Given the description of an element on the screen output the (x, y) to click on. 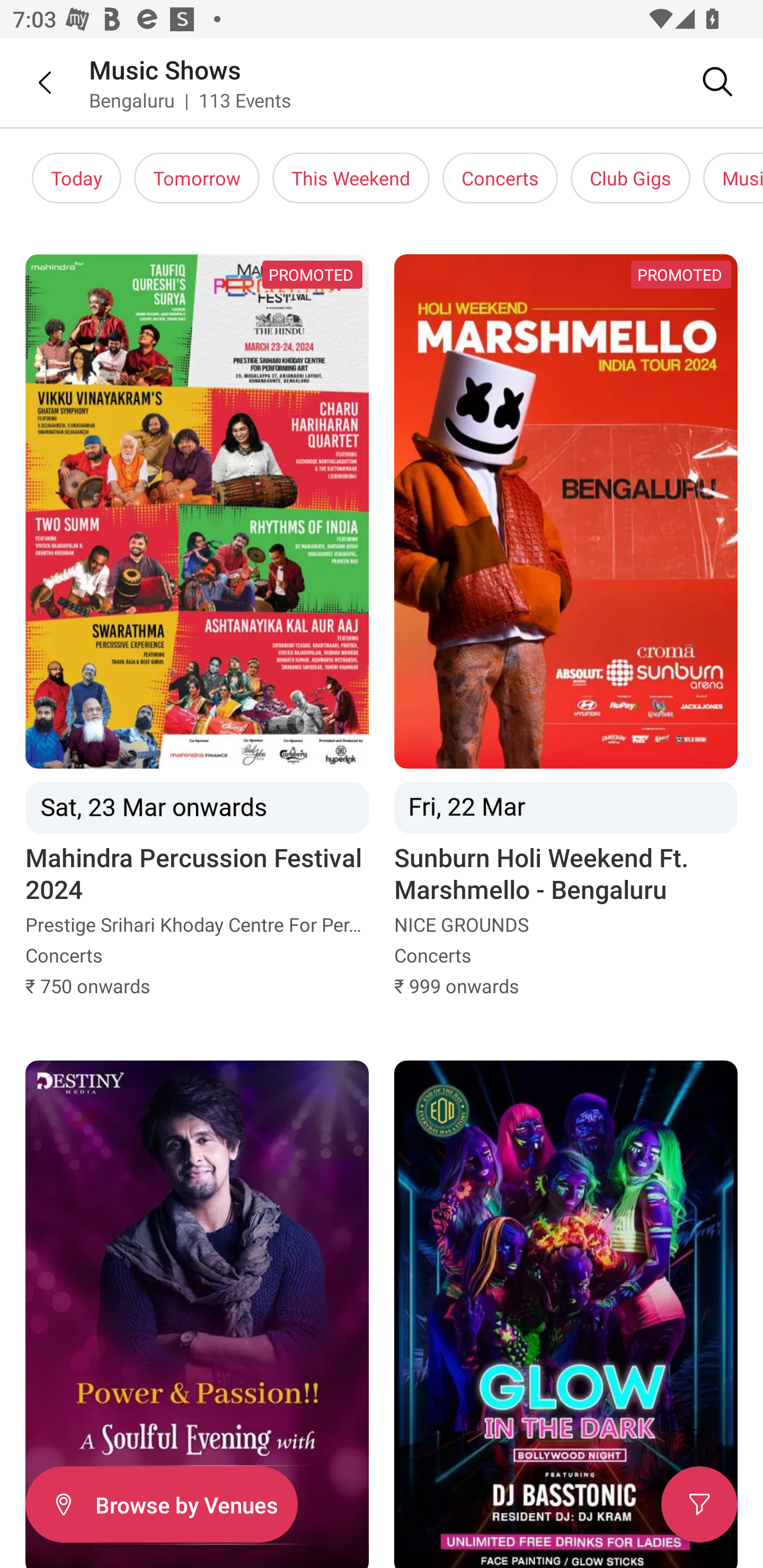
Back (31, 82)
Music Shows (165, 68)
Bengaluru  |  113 Events (190, 99)
Today (76, 177)
Tomorrow (196, 177)
This Weekend (350, 177)
Concerts (499, 177)
Club Gigs (630, 177)
Filter Browse by Venues (161, 1504)
Filter (699, 1504)
